Given the description of an element on the screen output the (x, y) to click on. 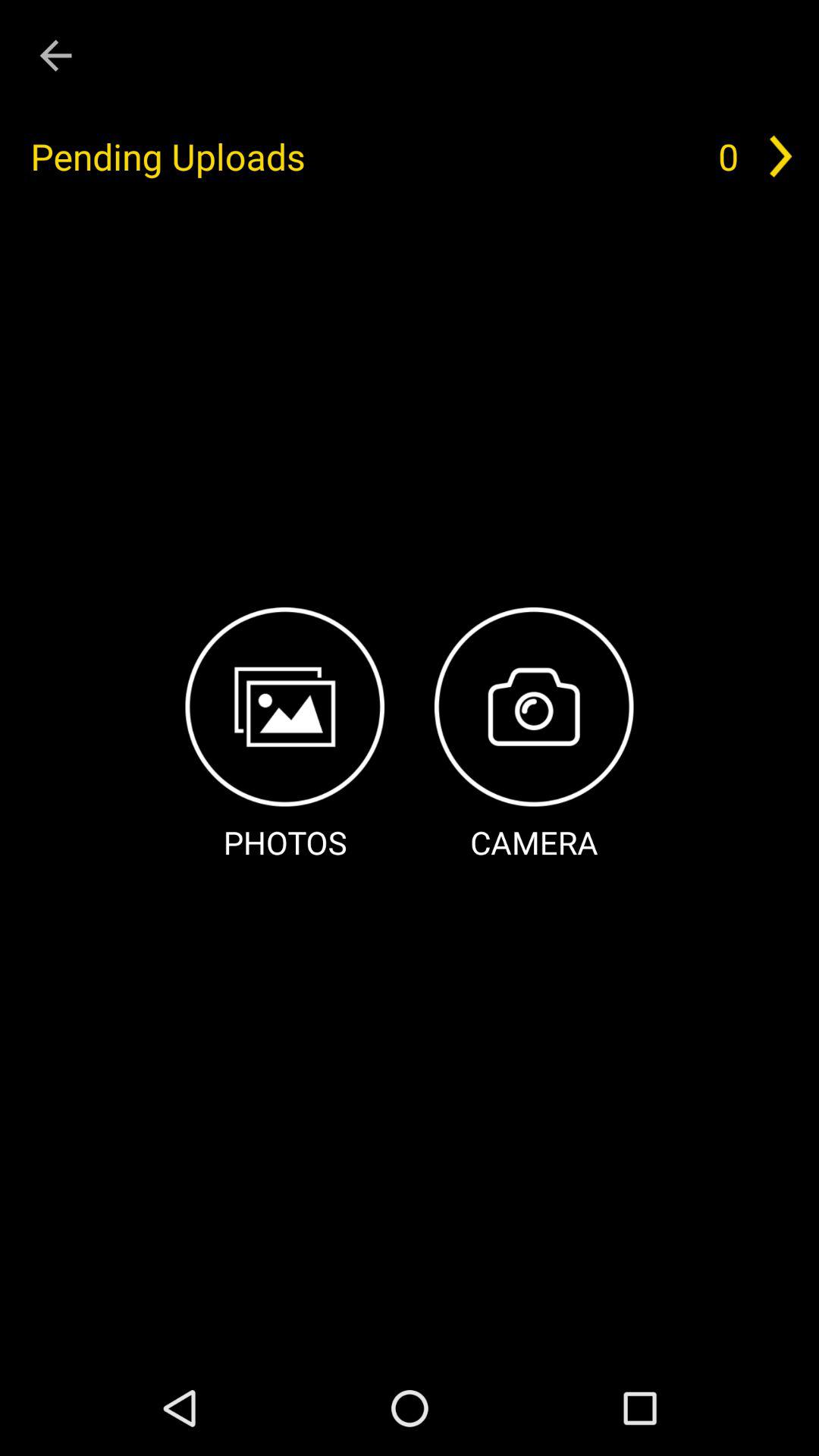
launch the item to the left of camera item (284, 735)
